Given the description of an element on the screen output the (x, y) to click on. 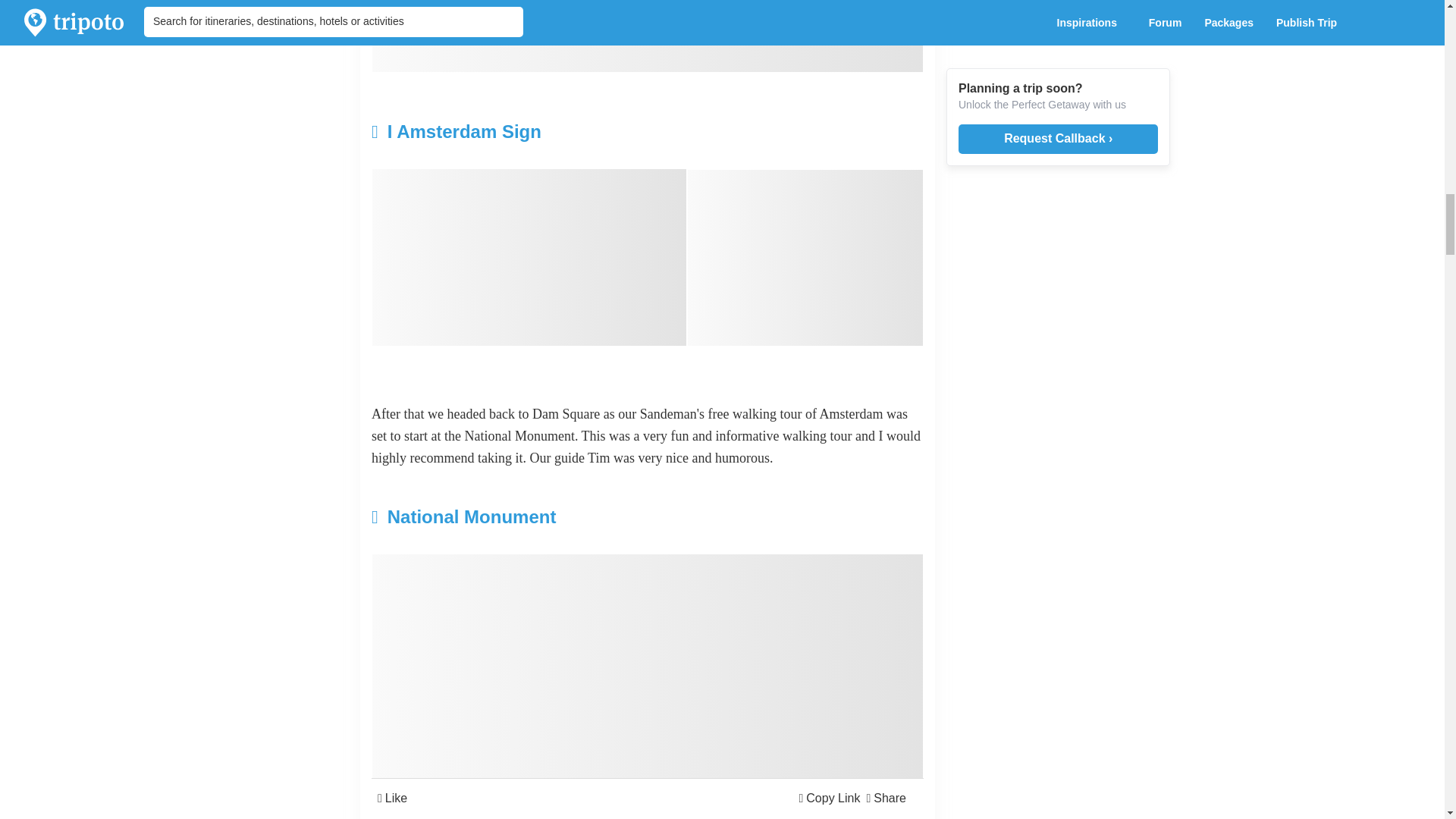
National Monument (555, 516)
I Amsterdam Sign (555, 131)
